Given the description of an element on the screen output the (x, y) to click on. 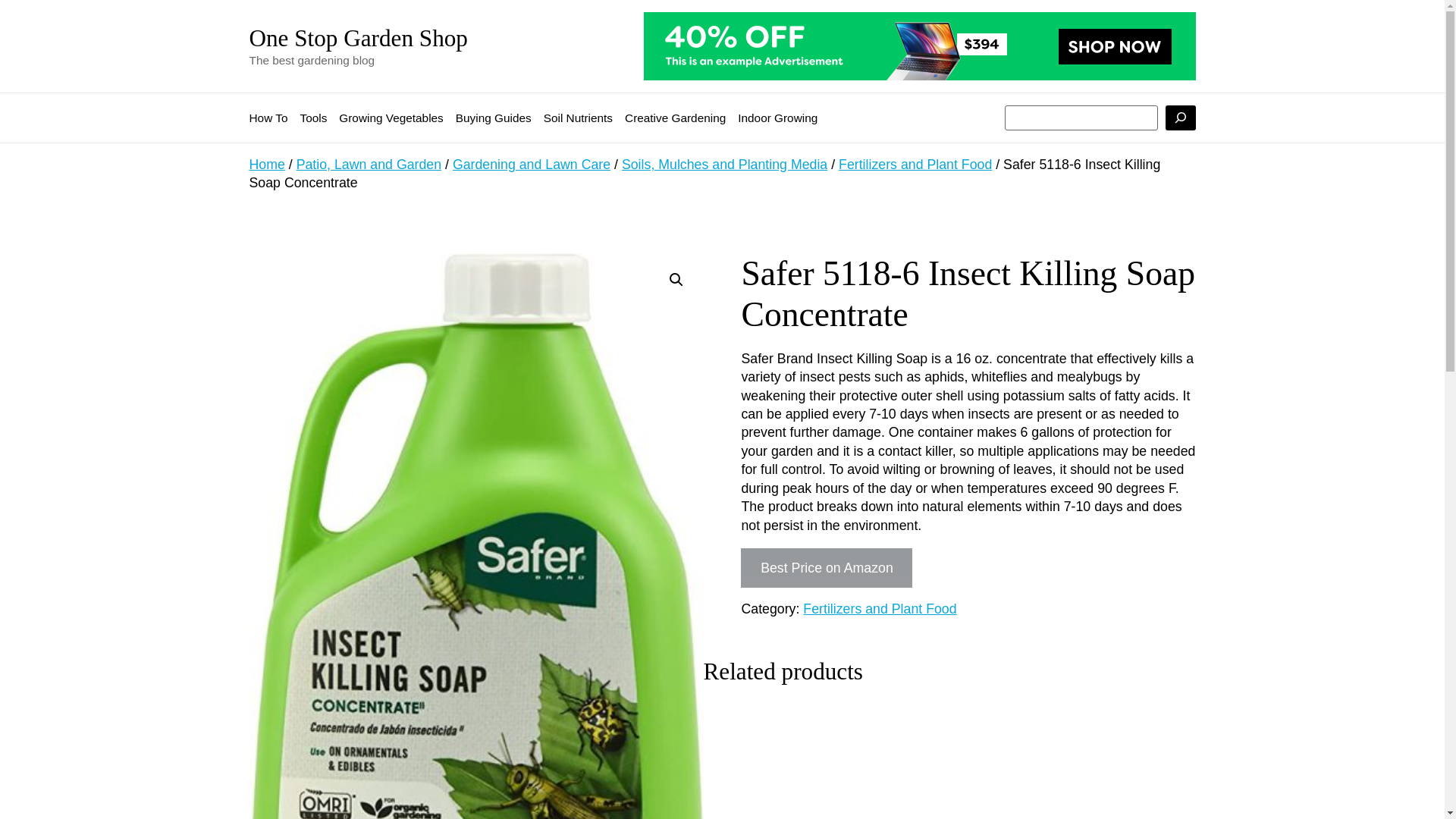
Growing Vegetables (390, 117)
Tools (312, 117)
Fertilizers and Plant Food (879, 608)
One Stop Garden Shop (357, 38)
Soils, Mulches and Planting Media (724, 164)
Indoor Growing (777, 117)
How To (267, 117)
Creative Gardening (674, 117)
Soil Nutrients (577, 117)
Home (265, 164)
Patio, Lawn and Garden (369, 164)
Buying Guides (493, 117)
Best Price on Amazon (826, 567)
Gardening and Lawn Care (531, 164)
